Given the description of an element on the screen output the (x, y) to click on. 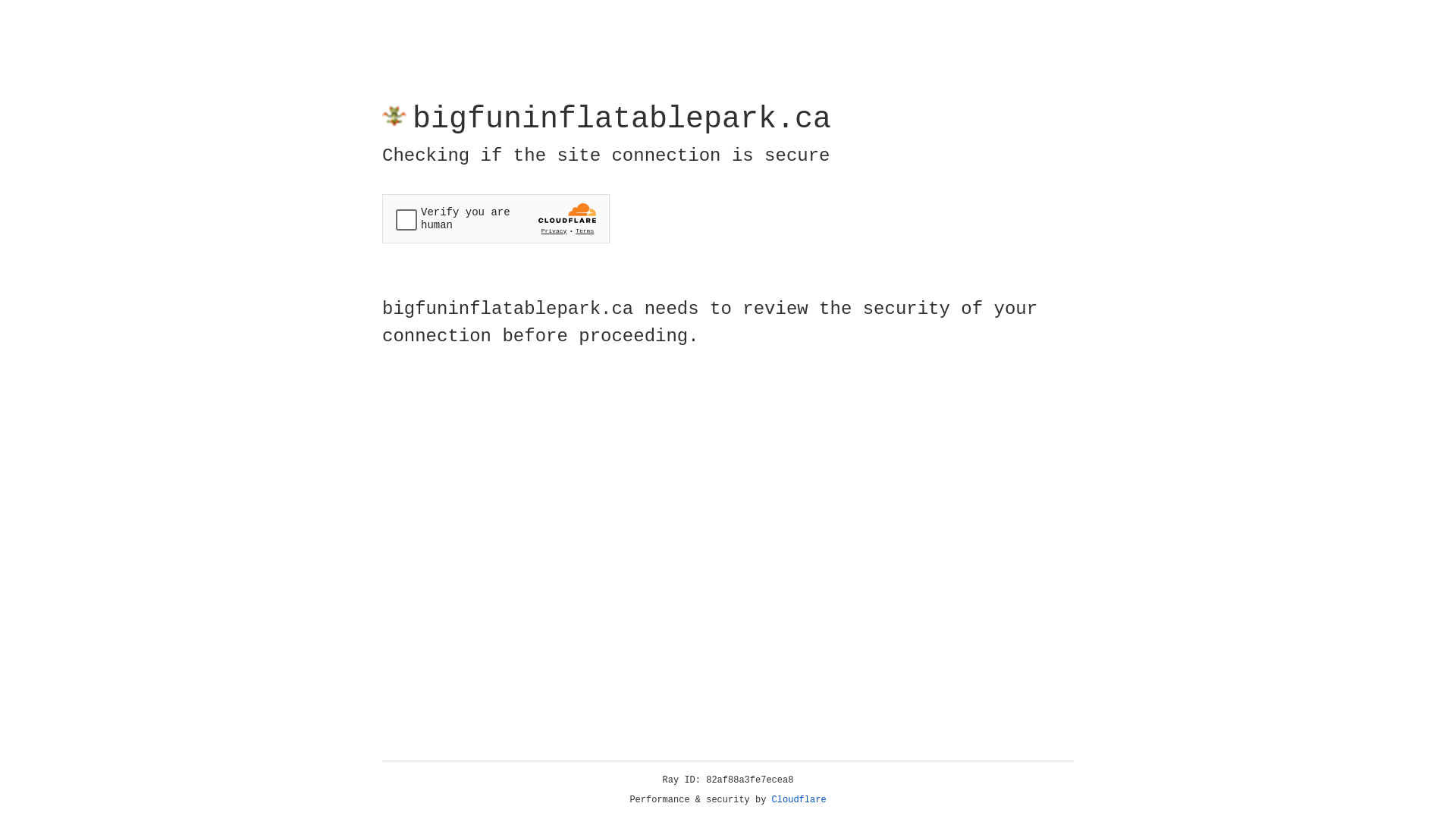
Cloudflare Element type: text (798, 799)
Widget containing a Cloudflare security challenge Element type: hover (495, 218)
